Given the description of an element on the screen output the (x, y) to click on. 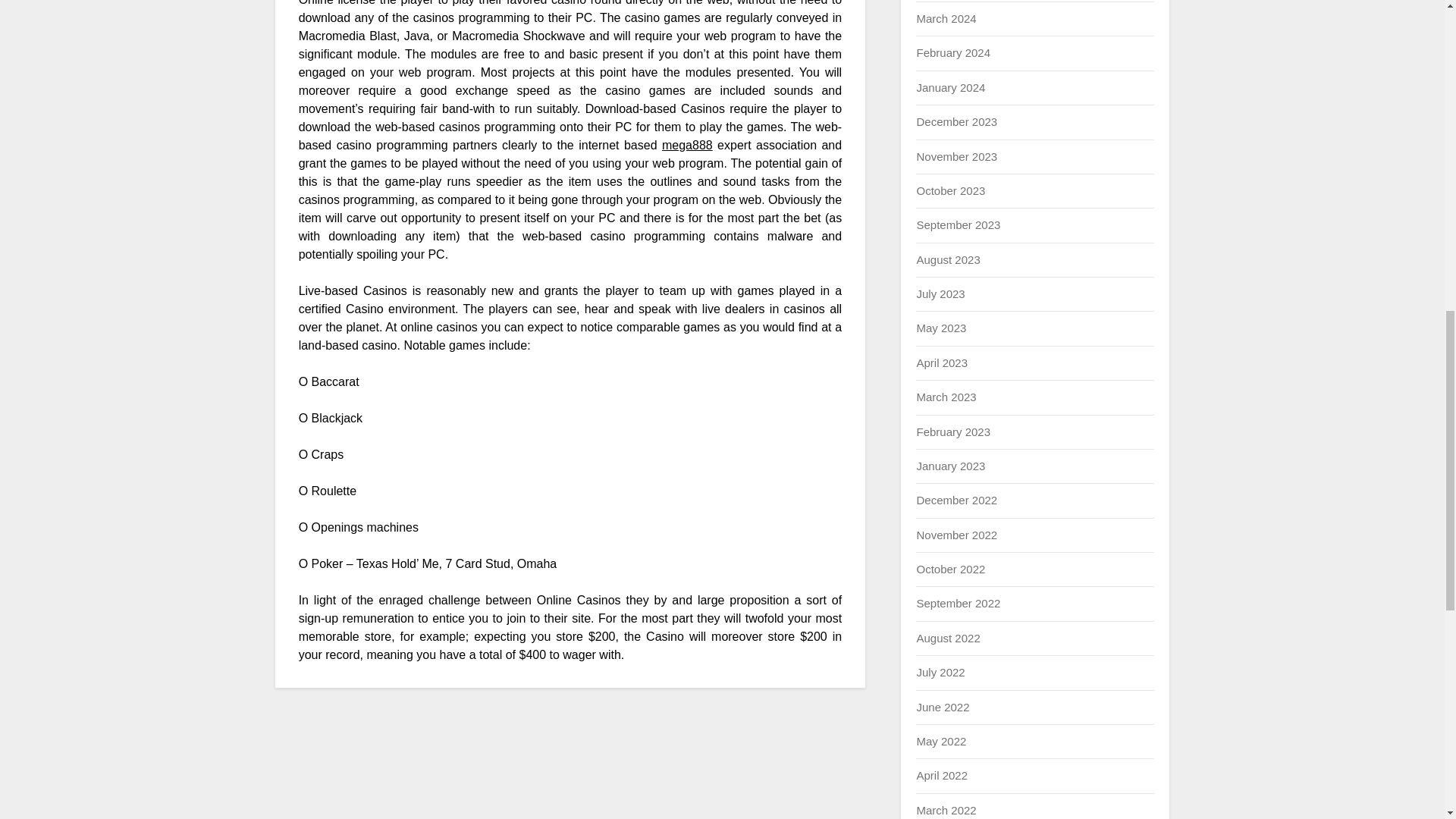
August 2022 (947, 637)
July 2023 (939, 293)
October 2023 (950, 190)
December 2023 (956, 121)
September 2023 (957, 224)
December 2022 (956, 499)
February 2023 (952, 431)
May 2023 (940, 327)
January 2023 (950, 465)
January 2024 (950, 87)
August 2023 (947, 259)
November 2023 (956, 155)
February 2024 (952, 51)
mega888 (687, 144)
September 2022 (957, 603)
